Given the description of an element on the screen output the (x, y) to click on. 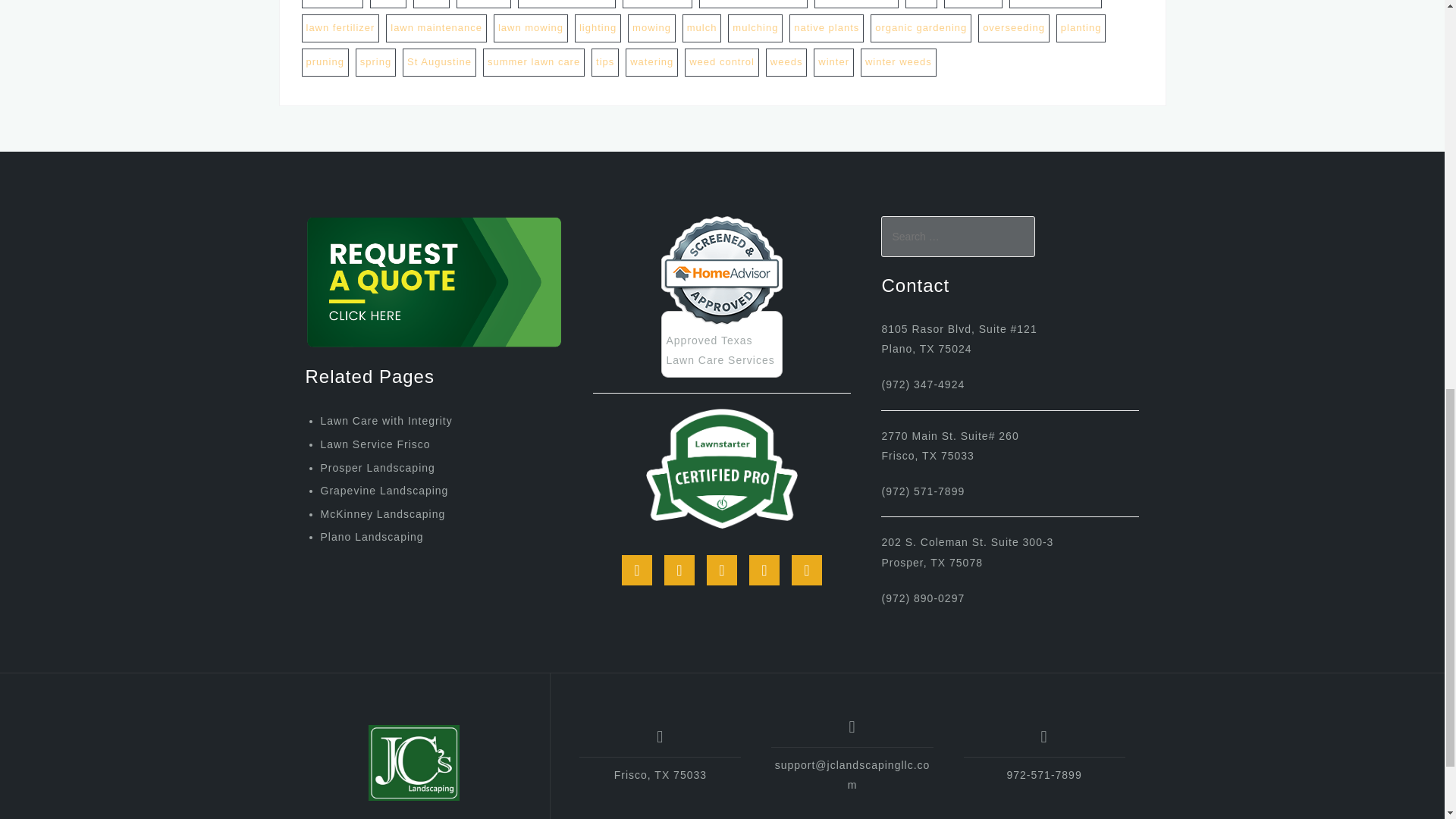
JC's Landscaping LLC (414, 762)
